Given the description of an element on the screen output the (x, y) to click on. 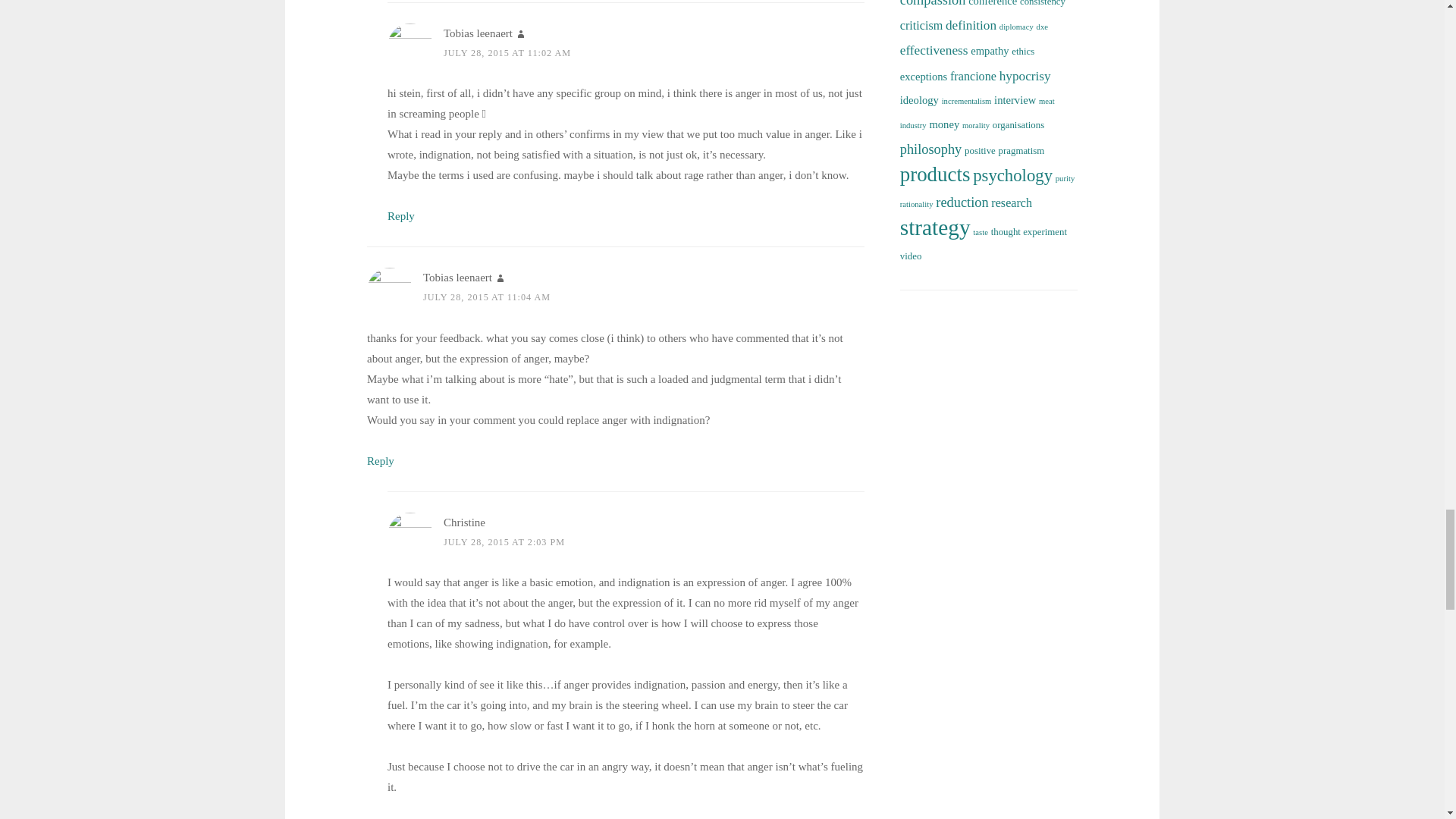
JULY 28, 2015 AT 11:02 AM (507, 52)
Reply (380, 460)
JULY 28, 2015 AT 11:04 AM (486, 296)
JULY 28, 2015 AT 2:03 PM (504, 542)
Tobias leenaert (457, 277)
Tobias leenaert (478, 33)
Reply (400, 215)
